Given the description of an element on the screen output the (x, y) to click on. 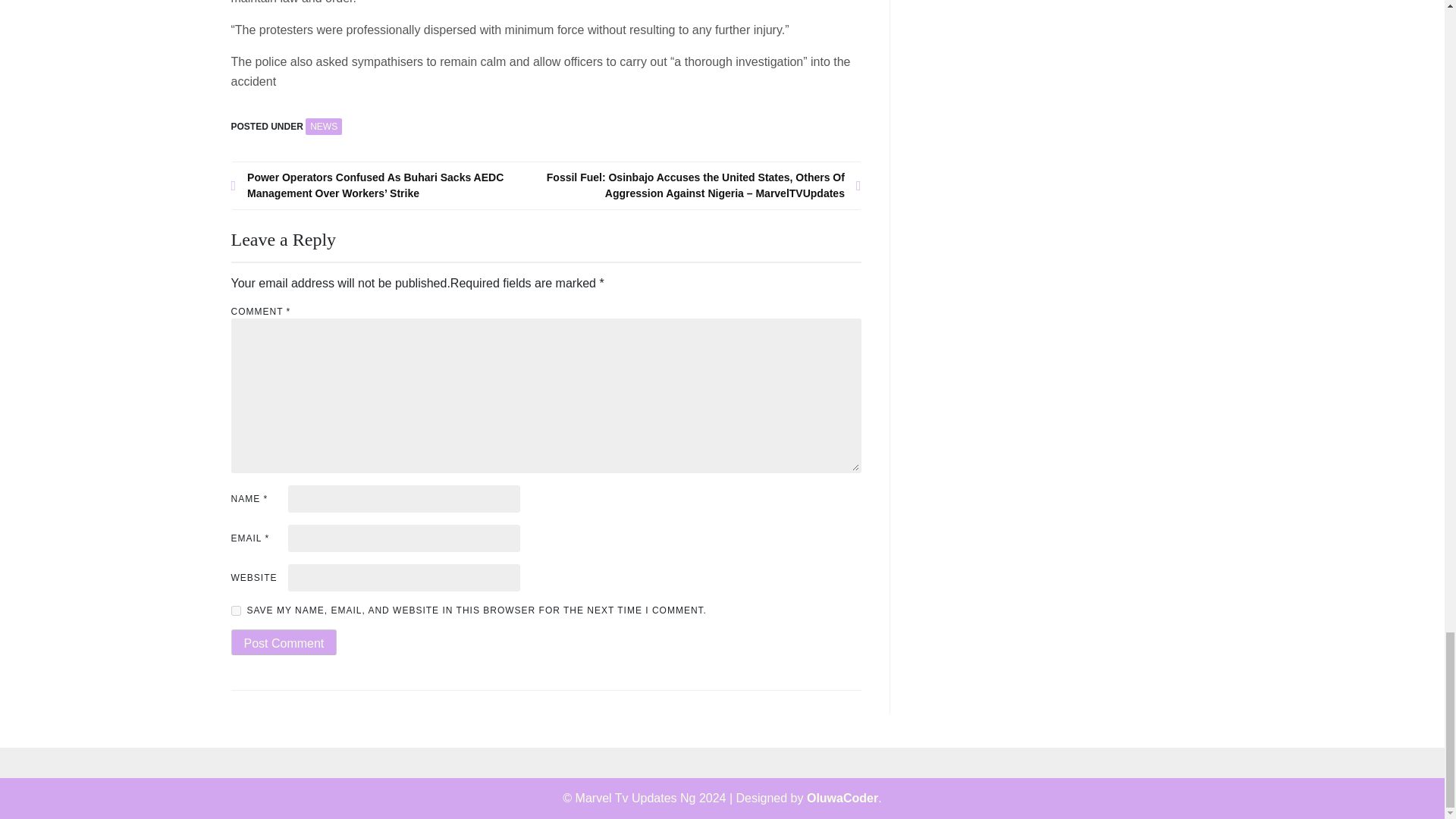
yes (235, 610)
Post Comment (283, 642)
NEWS (323, 126)
Post Comment (283, 642)
